Given the description of an element on the screen output the (x, y) to click on. 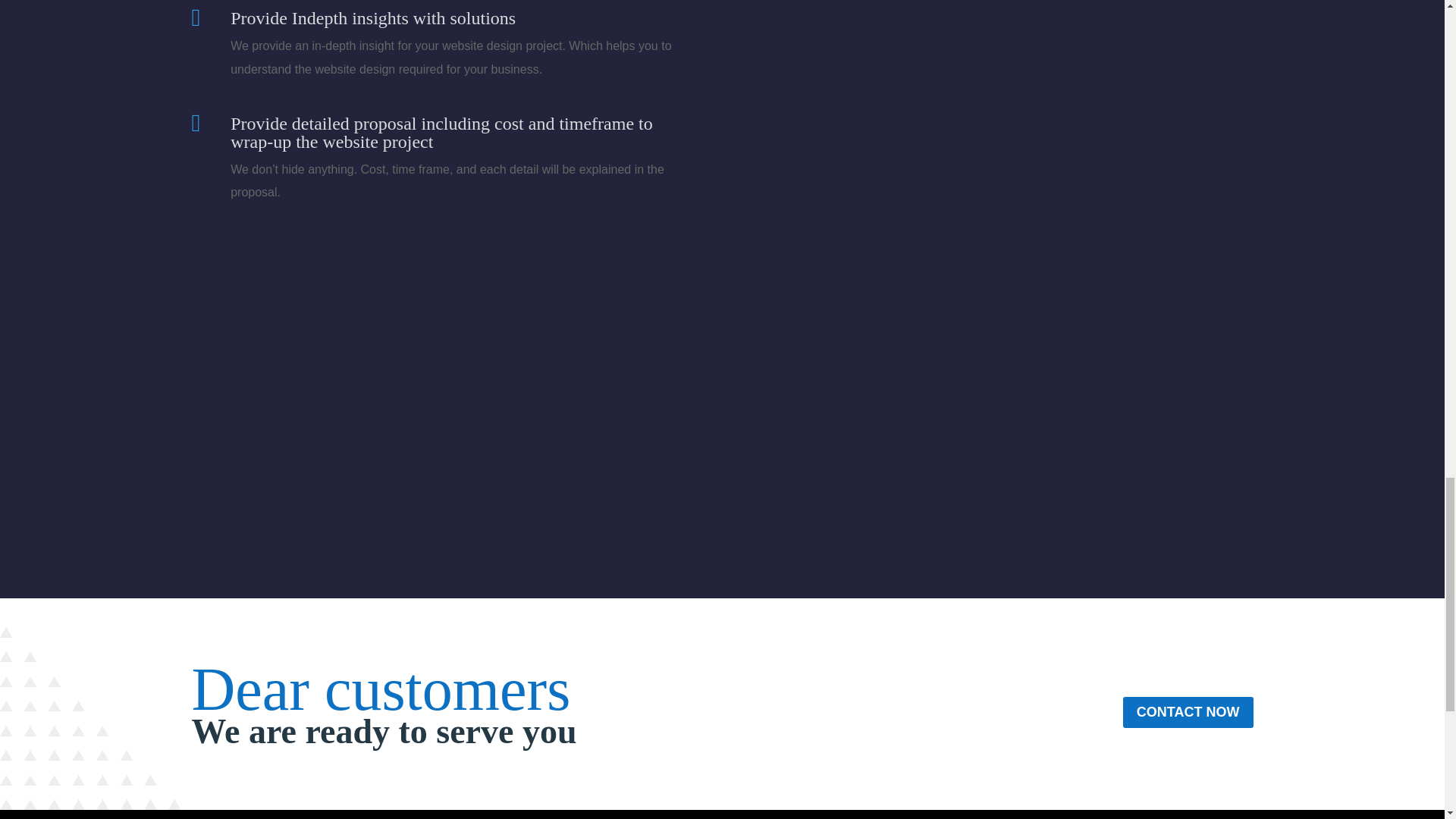
CONTACT NOW (1187, 712)
